Given the description of an element on the screen output the (x, y) to click on. 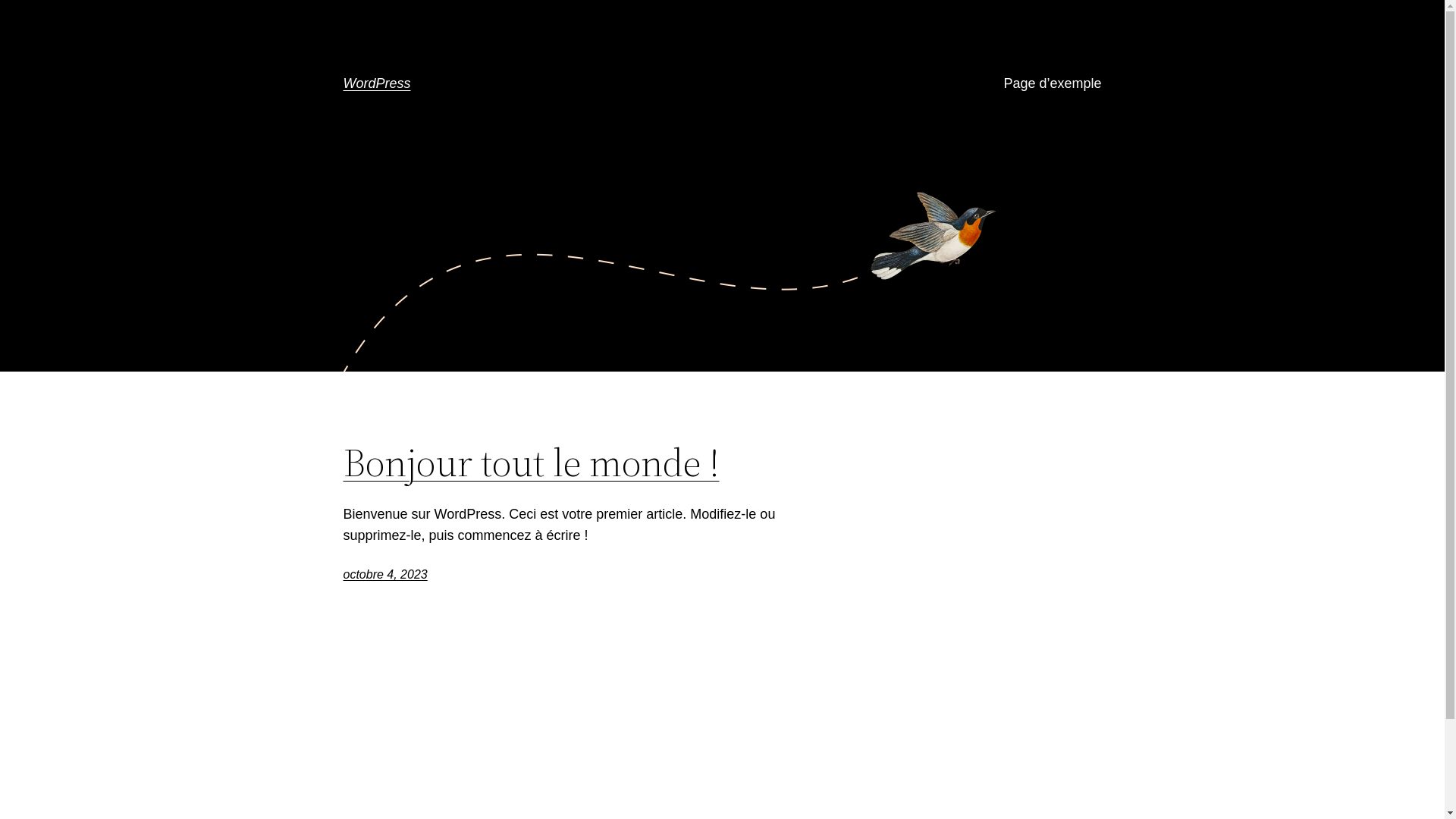
Bonjour tout le monde ! Element type: text (530, 462)
octobre 4, 2023 Element type: text (384, 573)
WordPress Element type: text (376, 83)
